Given the description of an element on the screen output the (x, y) to click on. 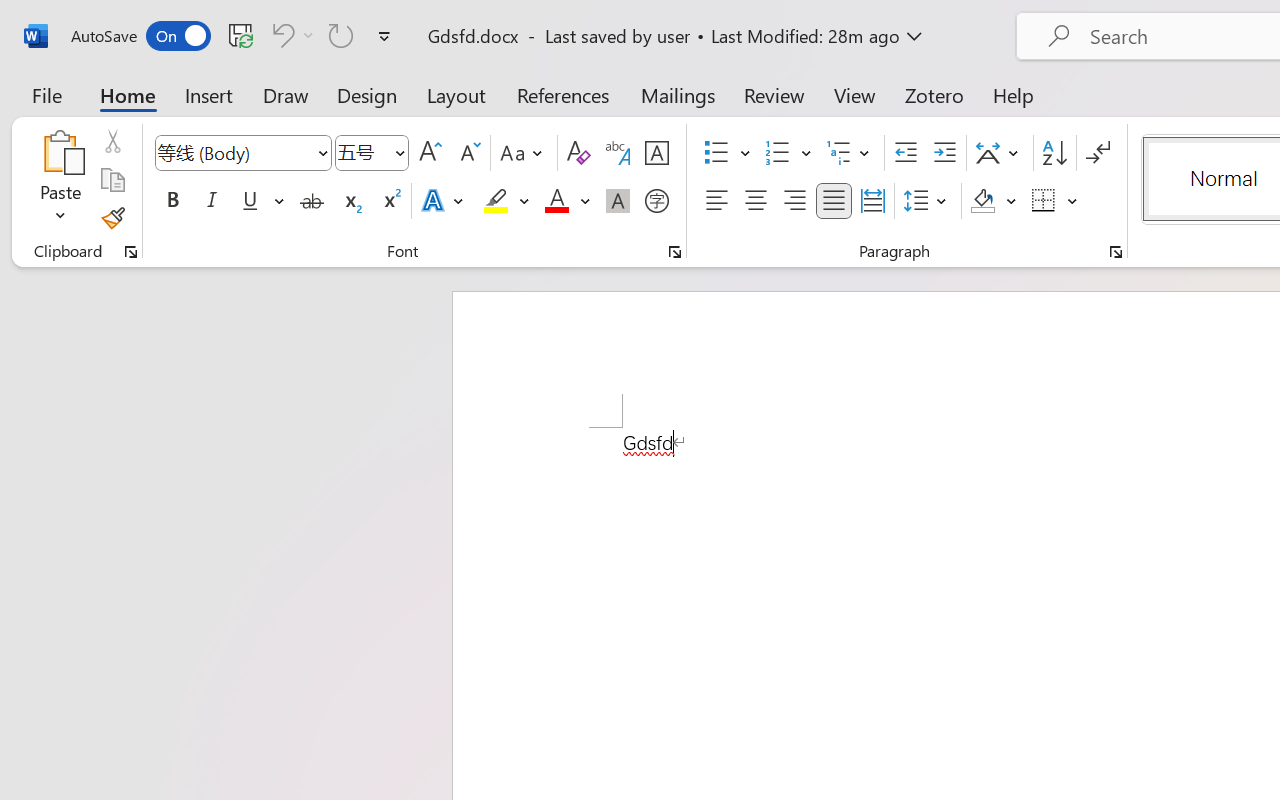
Can't Undo (280, 35)
